Given the description of an element on the screen output the (x, y) to click on. 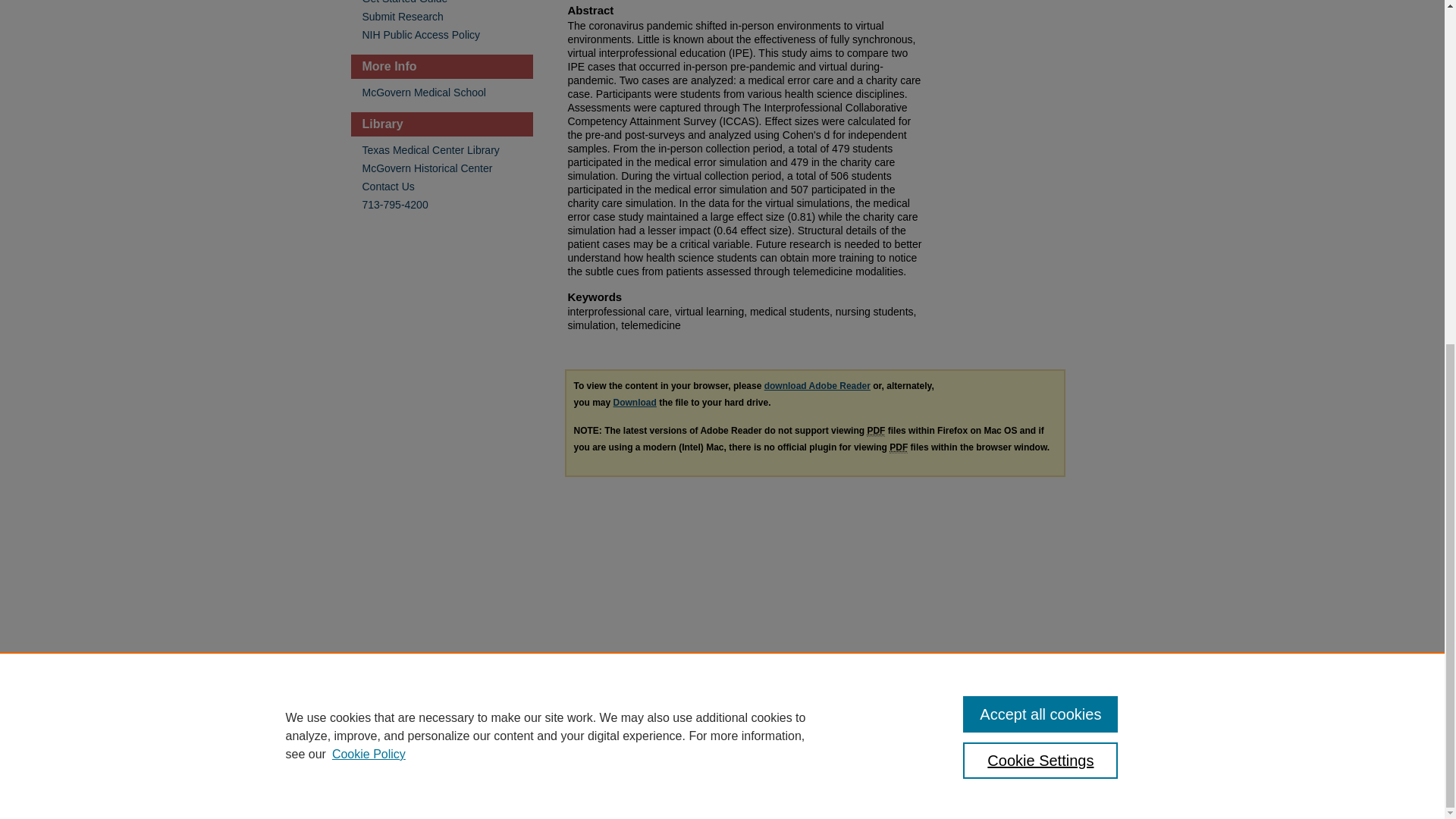
Portable Document Format (875, 430)
Portable Document Format (898, 447)
download Adobe Reader (817, 385)
Download (634, 402)
Adobe - Adobe Reader download (817, 385)
